Given the description of an element on the screen output the (x, y) to click on. 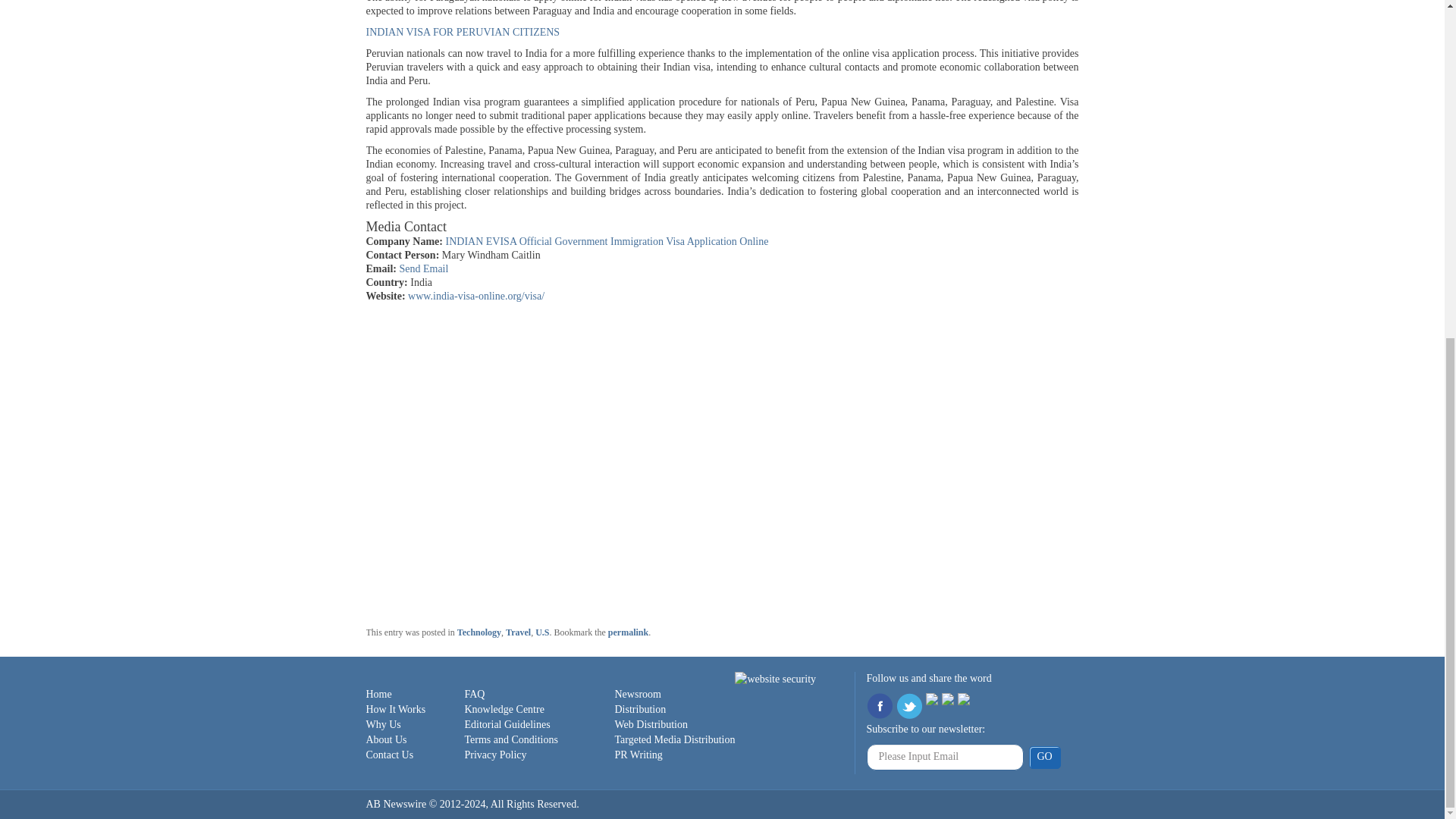
Please Input Email (944, 756)
GO (1043, 757)
SiteLock (775, 679)
